Given the description of an element on the screen output the (x, y) to click on. 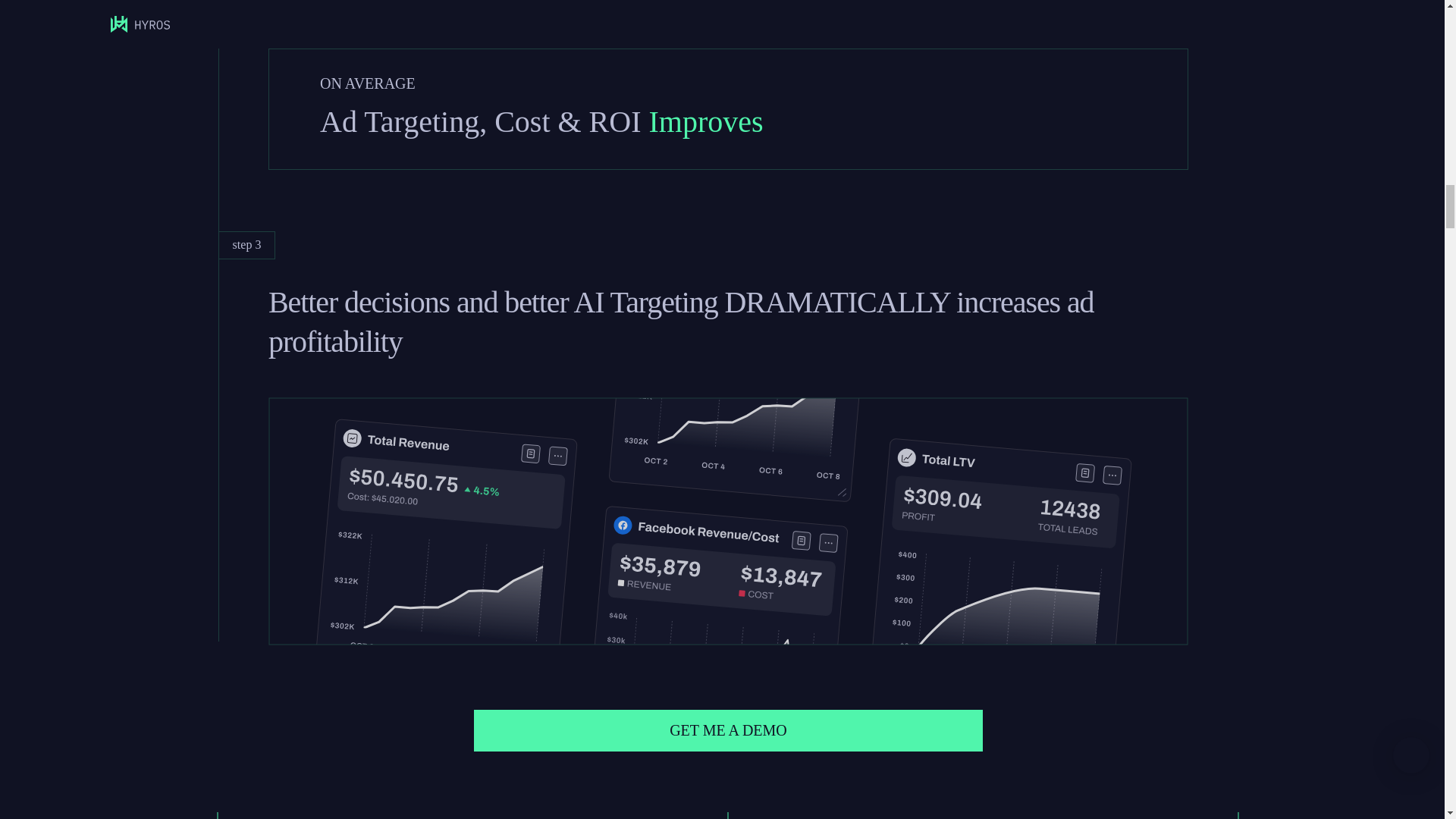
GET ME A DEMO (729, 730)
